Given the description of an element on the screen output the (x, y) to click on. 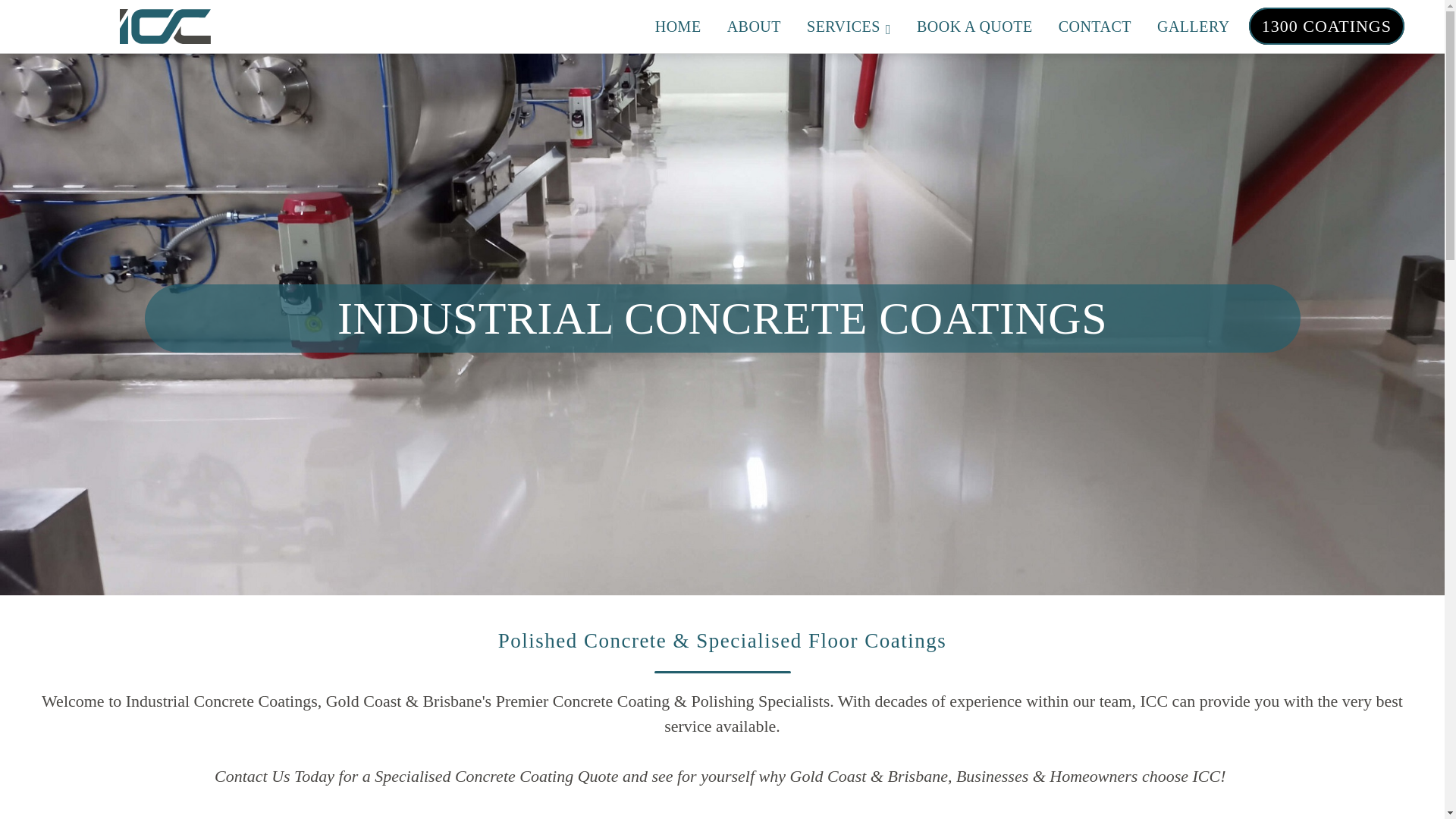
CONTACT Element type: text (1094, 26)
SERVICES Element type: text (848, 26)
ABOUT Element type: text (753, 26)
GALLERY Element type: text (1193, 26)
HOME Element type: text (677, 26)
Industrial Concrete Coatings Element type: text (221, 700)
Industrial Concrete Coatings Element type: hover (165, 26)
BOOK A QUOTE Element type: text (974, 26)
1300 COATINGS Element type: text (1326, 25)
